Given the description of an element on the screen output the (x, y) to click on. 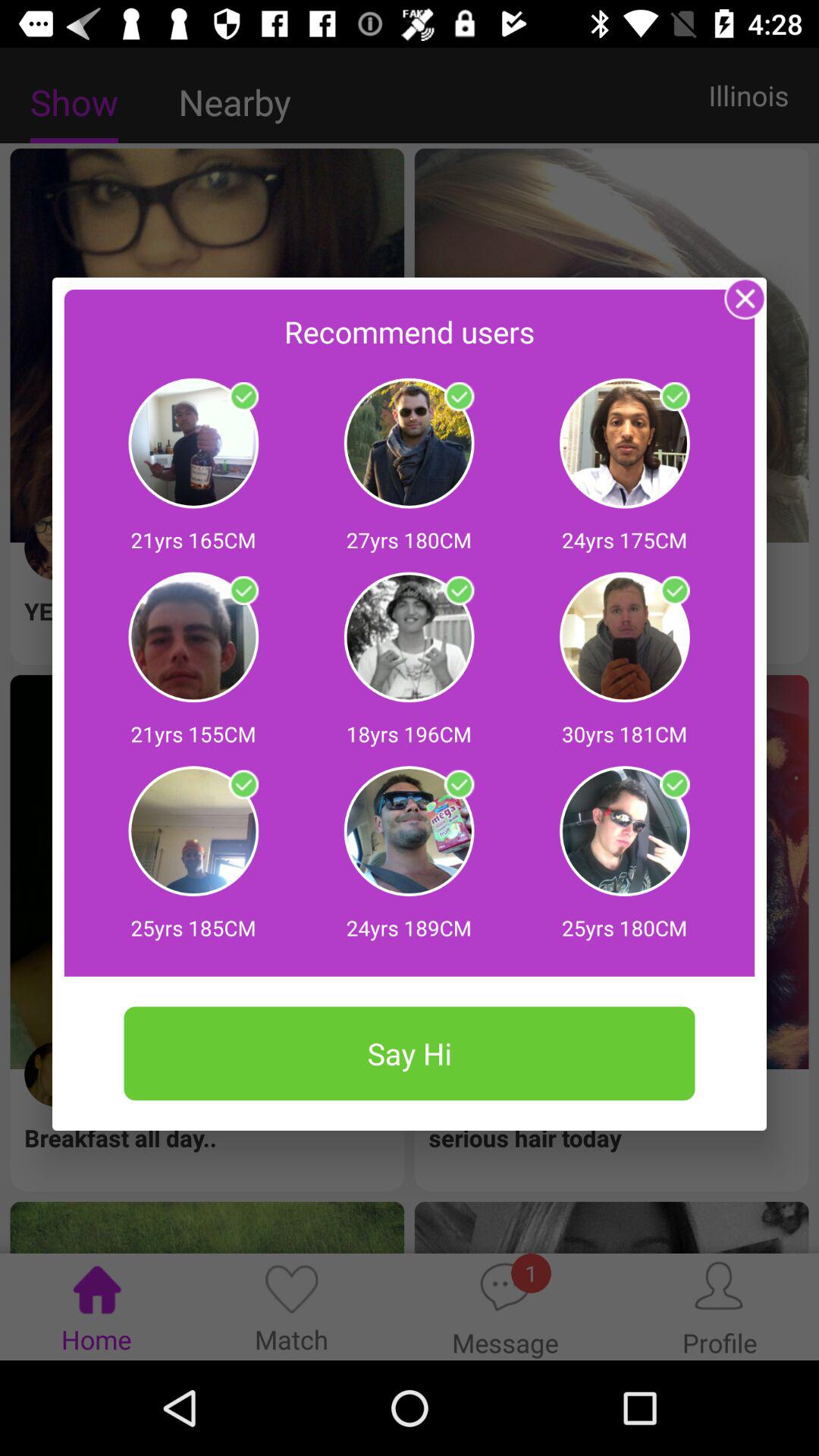
exit (745, 298)
